Given the description of an element on the screen output the (x, y) to click on. 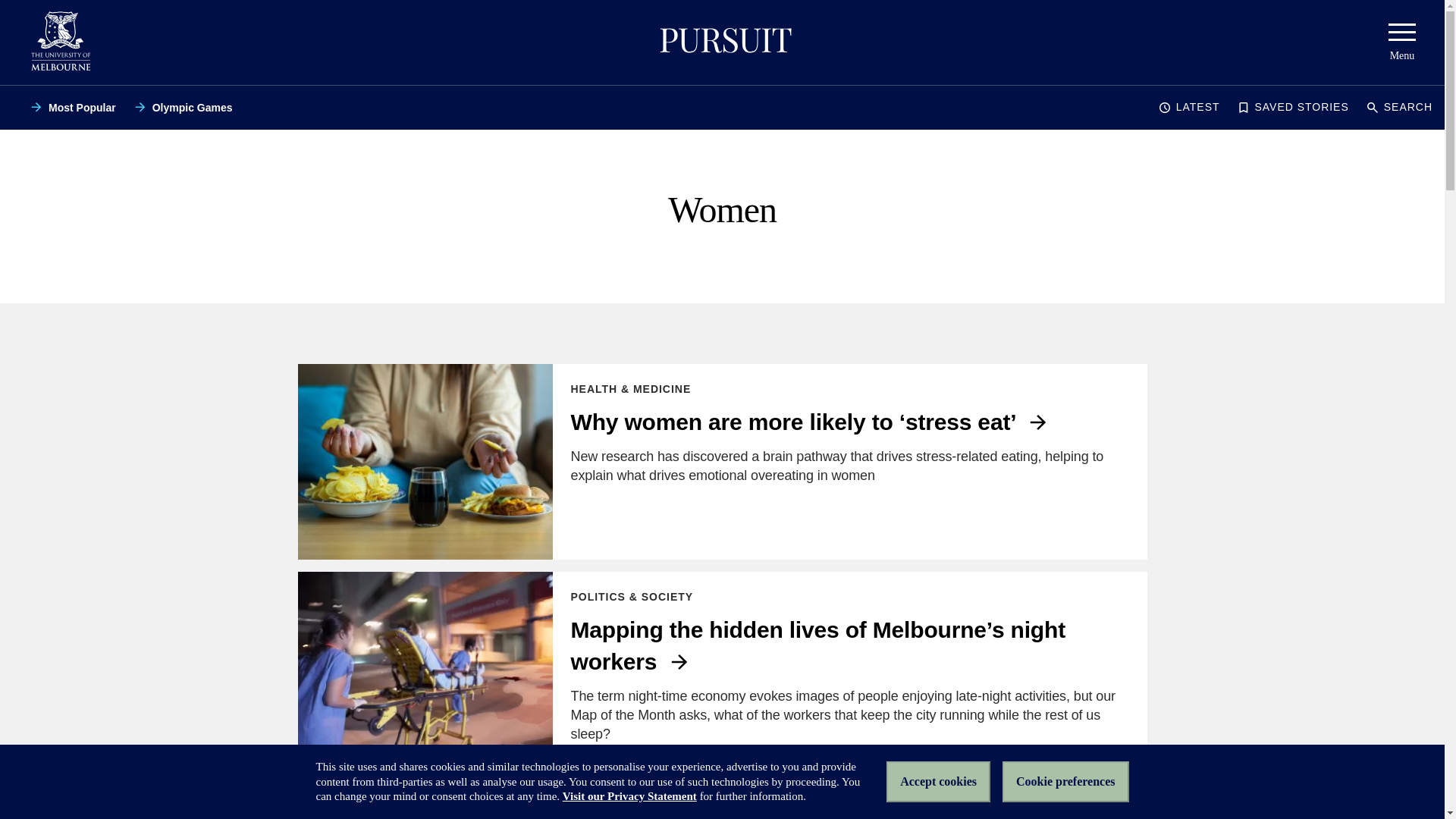
Olympic Games (182, 107)
Most Popular (73, 107)
SEARCH (1399, 107)
LATEST (1189, 107)
SAVED STORIES (1292, 107)
